Given the description of an element on the screen output the (x, y) to click on. 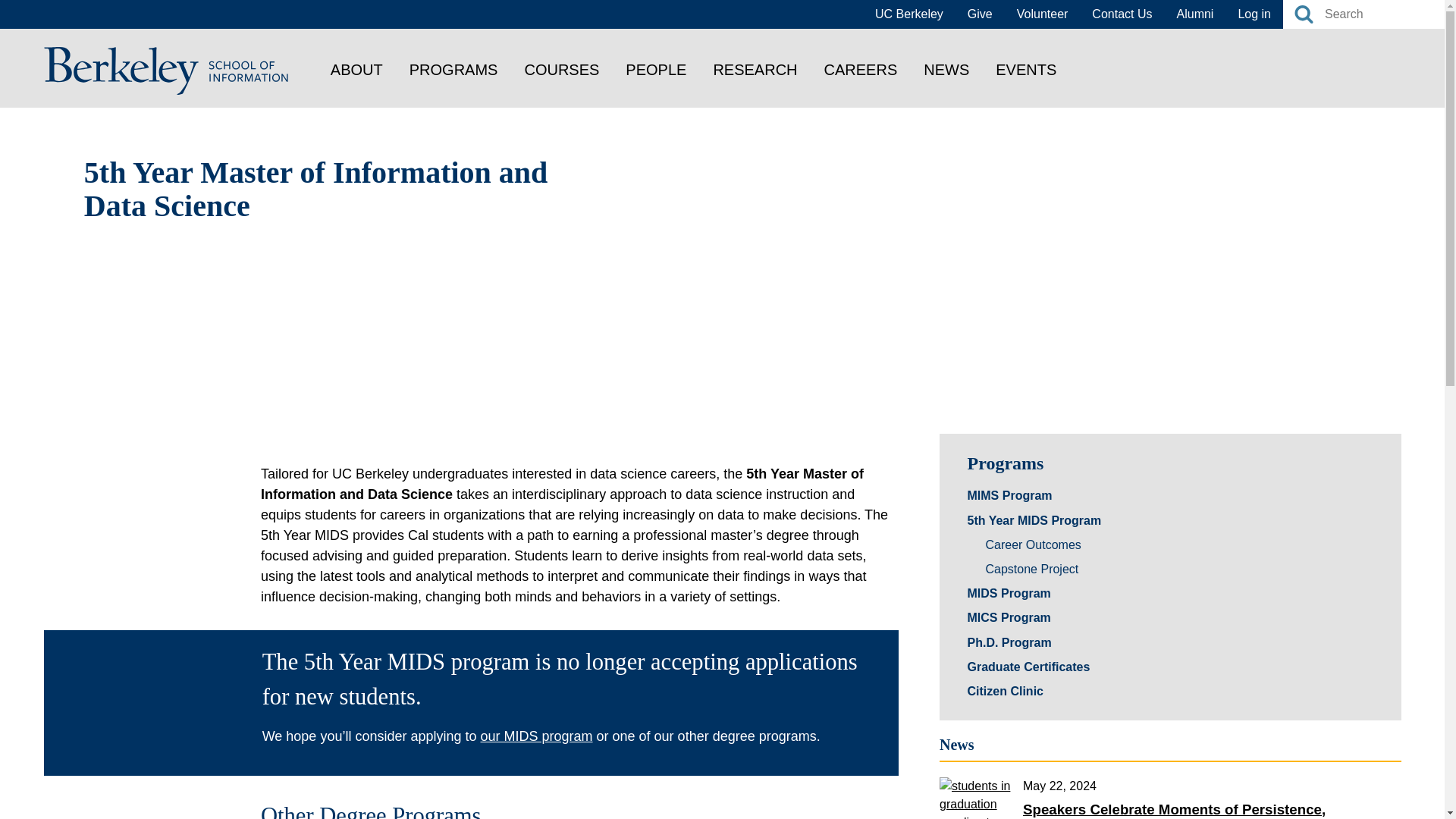
UC Berkeley (909, 14)
ABOUT (356, 69)
PROGRAMS (453, 69)
Log in (1253, 14)
Contact Us (1121, 14)
Alumni (1194, 14)
Search (1303, 13)
Volunteer (1042, 14)
Give (979, 14)
